Given the description of an element on the screen output the (x, y) to click on. 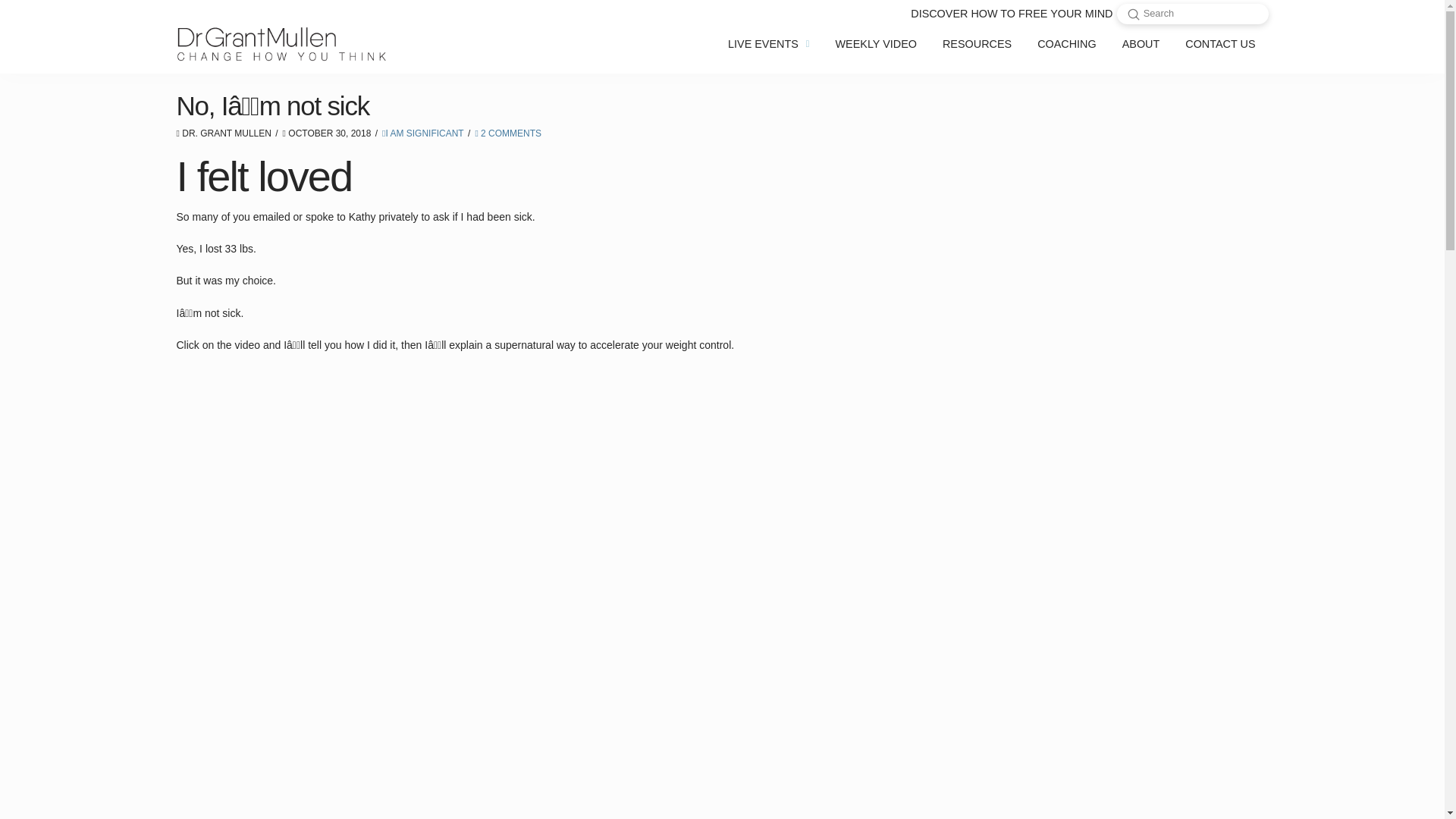
I AM SIGNIFICANT (422, 132)
2 COMMENTS (507, 132)
ABOUT (1141, 44)
WEEKLY VIDEO (876, 44)
COACHING (1067, 44)
DISCOVER HOW TO FREE YOUR MIND (1011, 14)
RESOURCES (977, 44)
LIVE EVENTS (768, 44)
CONTACT US (1220, 44)
